Given the description of an element on the screen output the (x, y) to click on. 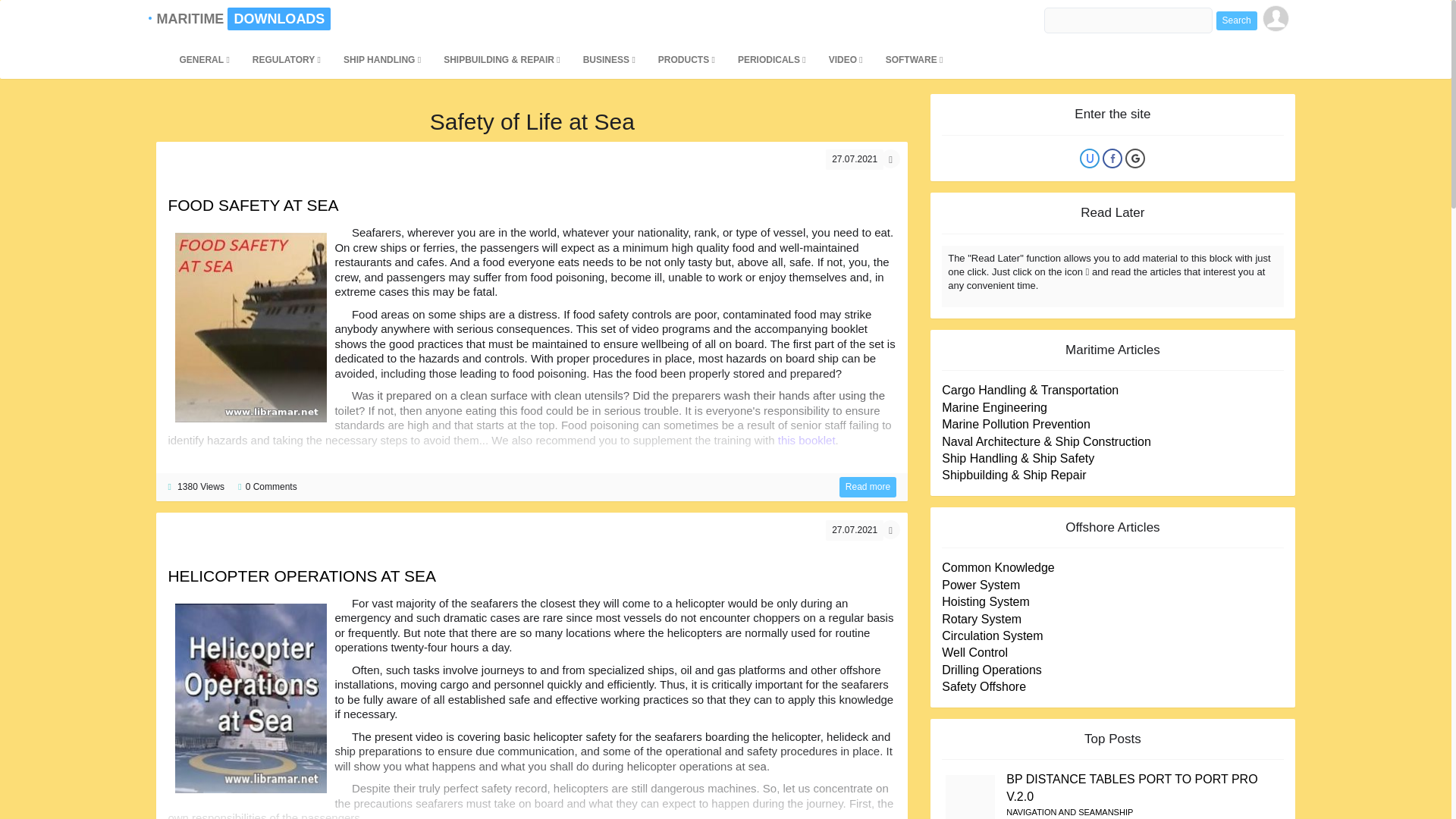
Search (1236, 20)
FOOD SAFETY AT SEA (252, 204)
HELICOPTER OPERATIONS AT SEA (301, 575)
REGULATORY (286, 59)
GENERAL (203, 59)
MARITIMEDOWNLOADS (192, 18)
SHIP HANDLING (381, 59)
Search (1236, 20)
FOOD SAFETY AT SEA (868, 486)
Search (1236, 20)
